Given the description of an element on the screen output the (x, y) to click on. 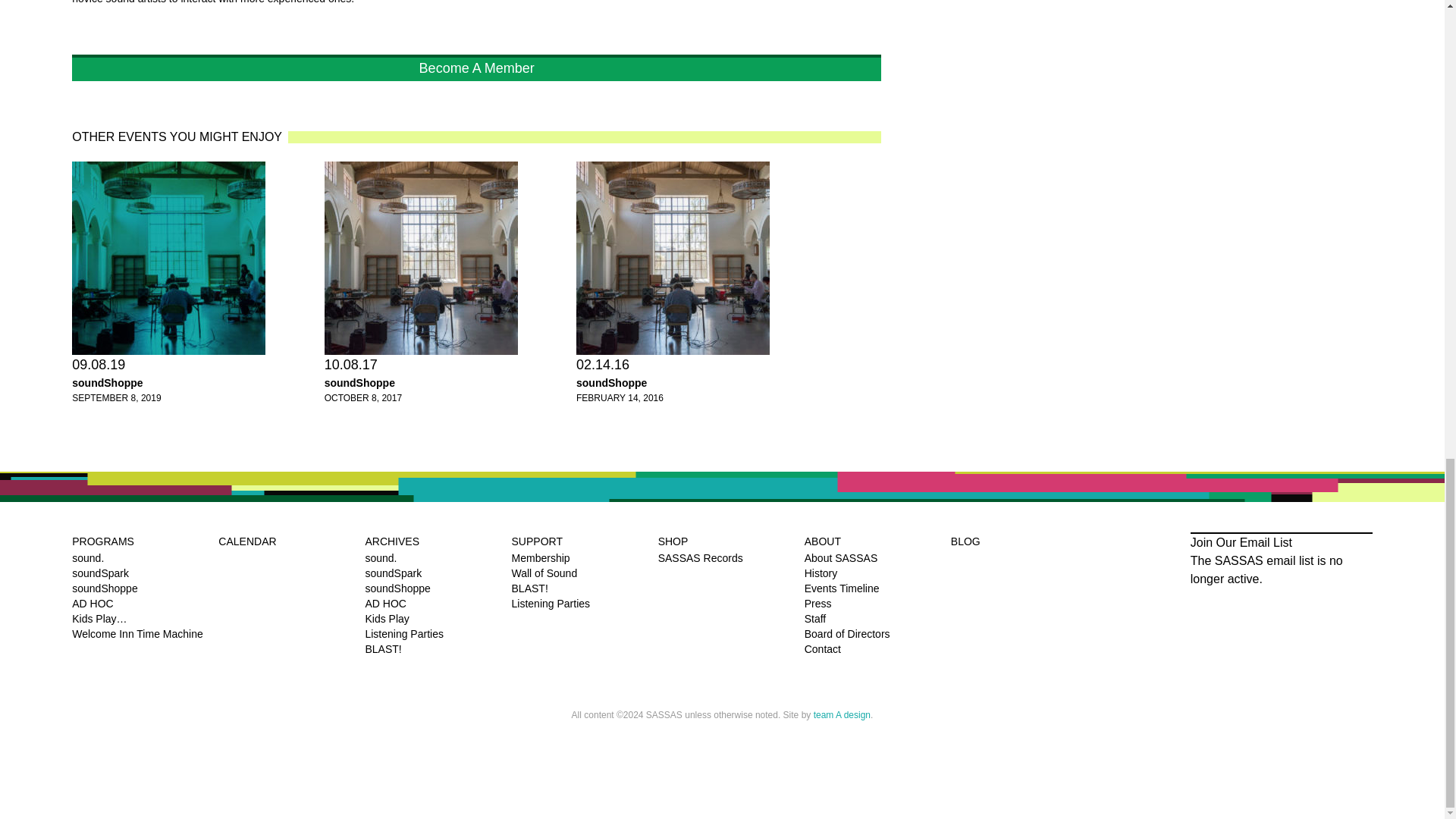
02.14.16 (673, 257)
09.08.19 (98, 364)
10.08.17 (421, 257)
Become A Member (475, 67)
09.08.19 (167, 257)
Support SASSAS (475, 67)
